Given the description of an element on the screen output the (x, y) to click on. 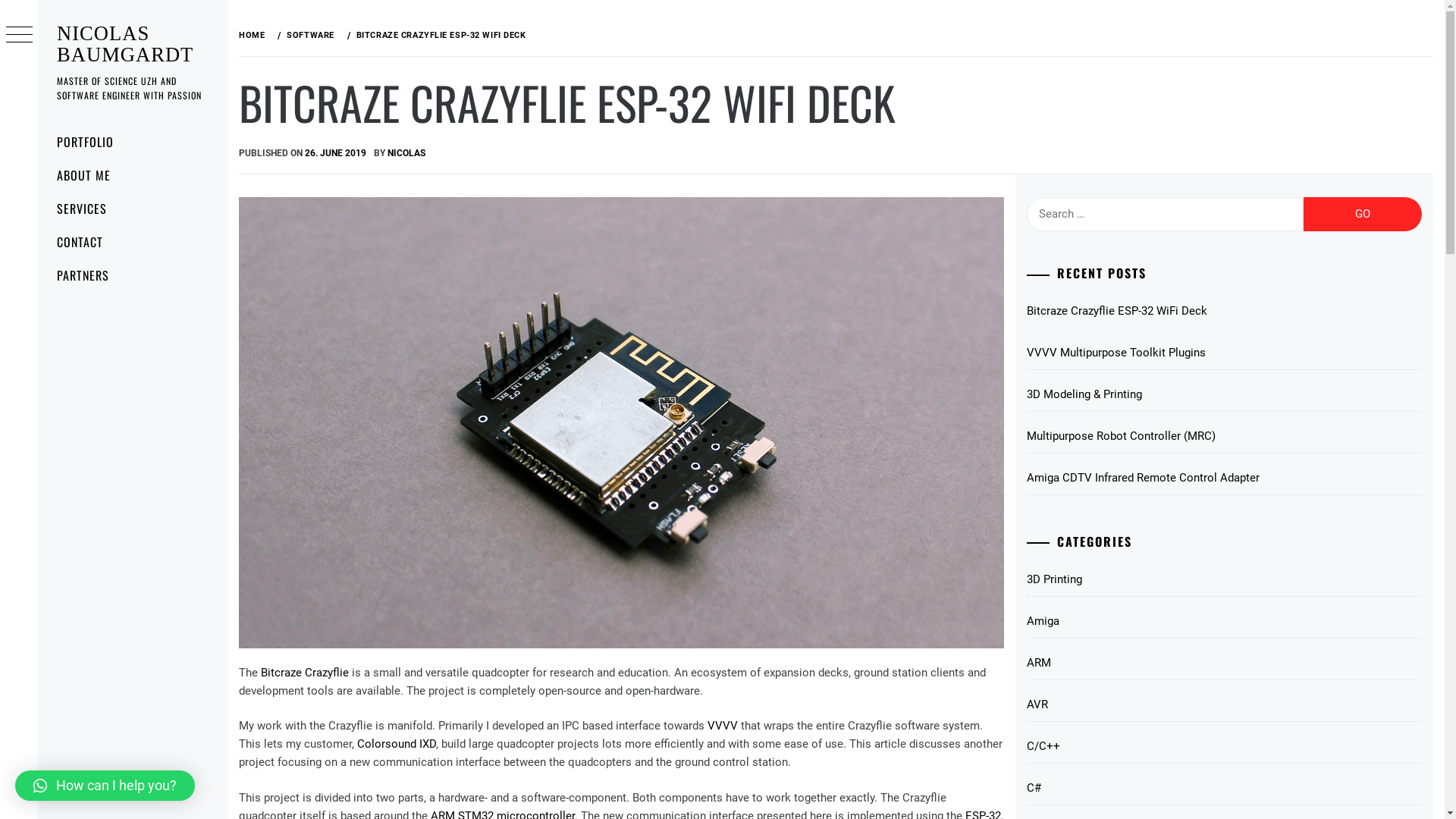
ARM Element type: text (1223, 663)
VVVV Element type: text (722, 725)
GO Element type: text (1362, 214)
Amiga CDTV Infrared Remote Control Adapter Element type: text (1223, 478)
NICOLAS Element type: text (406, 152)
BITCRAZE CRAZYFLIE ESP-32 WIFI DECK Element type: text (439, 35)
SERVICES Element type: text (132, 208)
VVVV Multipurpose Toolkit Plugins Element type: text (1223, 352)
3D Printing Element type: text (1223, 579)
ABOUT ME Element type: text (132, 174)
Bitcraze Crazyflie Element type: text (304, 672)
HOME Element type: text (253, 35)
26. JUNE 2019 Element type: text (335, 152)
GO Element type: text (645, 37)
How can I help you? Element type: text (104, 785)
Colorsound IXD Element type: text (396, 743)
CONTACT Element type: text (132, 241)
Bitcraze Crazyflie ESP-32 WiFi Deck Element type: text (1223, 311)
PORTFOLIO Element type: text (132, 141)
SOFTWARE Element type: text (308, 35)
C# Element type: text (1223, 788)
Amiga Element type: text (1223, 621)
AVR Element type: text (1223, 704)
Multipurpose Robot Controller (MRC) Element type: text (1223, 436)
C/C++ Element type: text (1223, 746)
PARTNERS Element type: text (132, 274)
NICOLAS BAUMGARDT Element type: text (124, 43)
3D Modeling & Printing Element type: text (1223, 394)
